Given the description of an element on the screen output the (x, y) to click on. 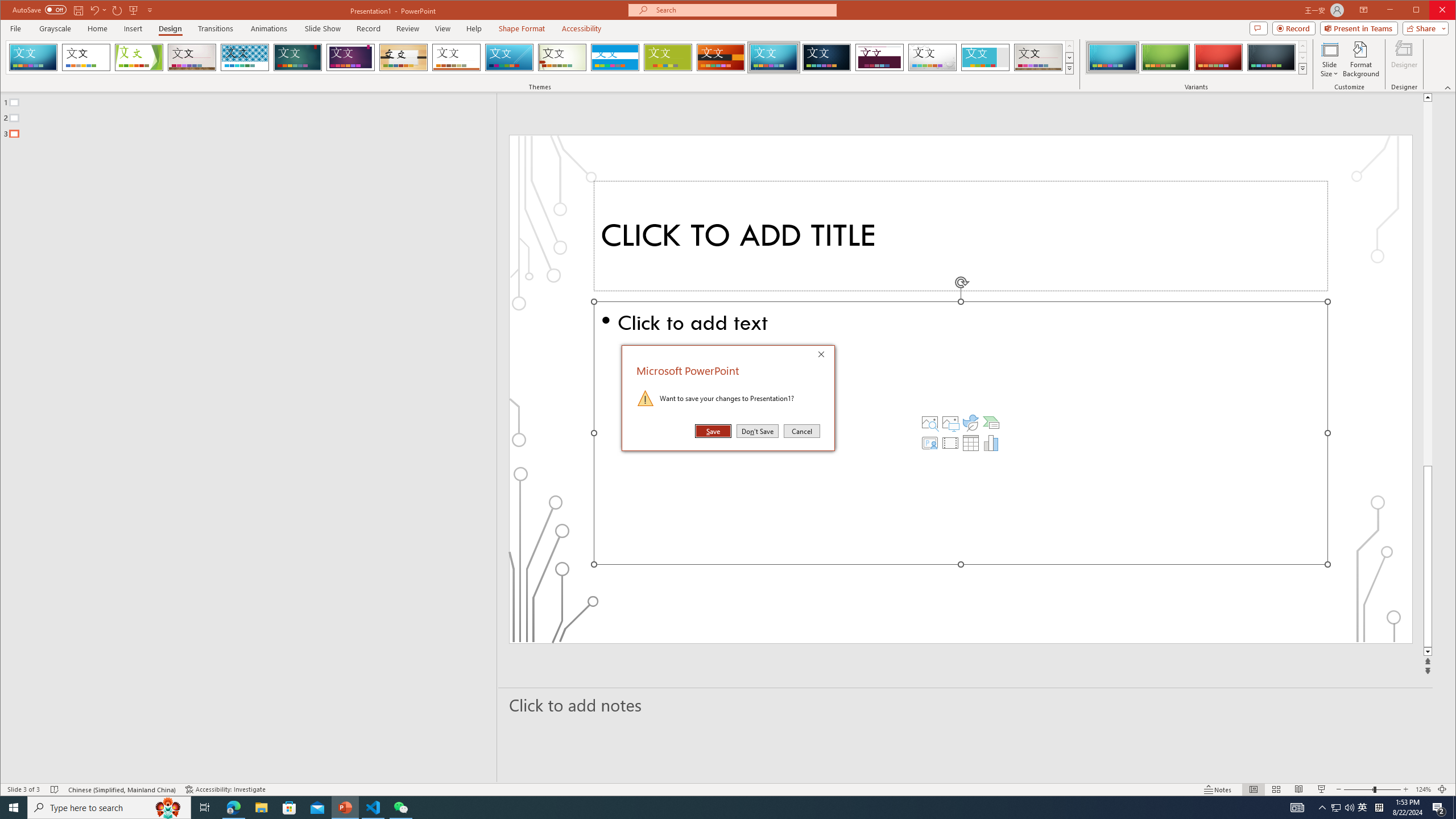
Frame (985, 57)
Office Theme (85, 57)
Organic (403, 57)
Banded (615, 57)
Title TextBox (960, 235)
Tray Input Indicator - Chinese (Simplified, China) (1378, 807)
Running applications (707, 807)
Line down (1427, 651)
